Given the description of an element on the screen output the (x, y) to click on. 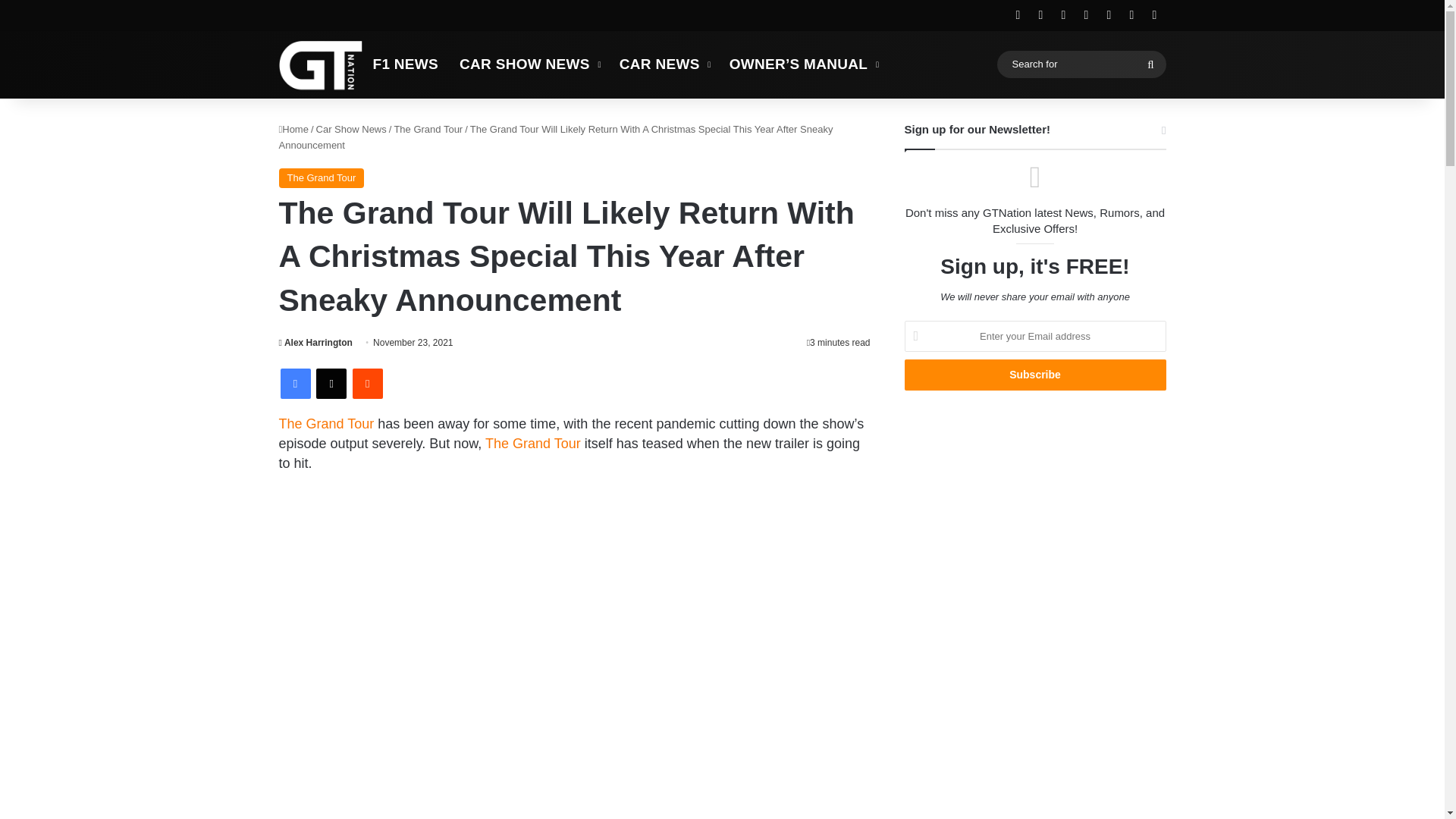
The Grand Tour (326, 423)
Facebook (296, 383)
CAR SHOW NEWS (528, 64)
Home (293, 129)
Alex Harrington (315, 342)
Car Show News (351, 129)
Search for (1080, 63)
Reddit (367, 383)
CAR NEWS (663, 64)
Subscribe (1035, 374)
